Given the description of an element on the screen output the (x, y) to click on. 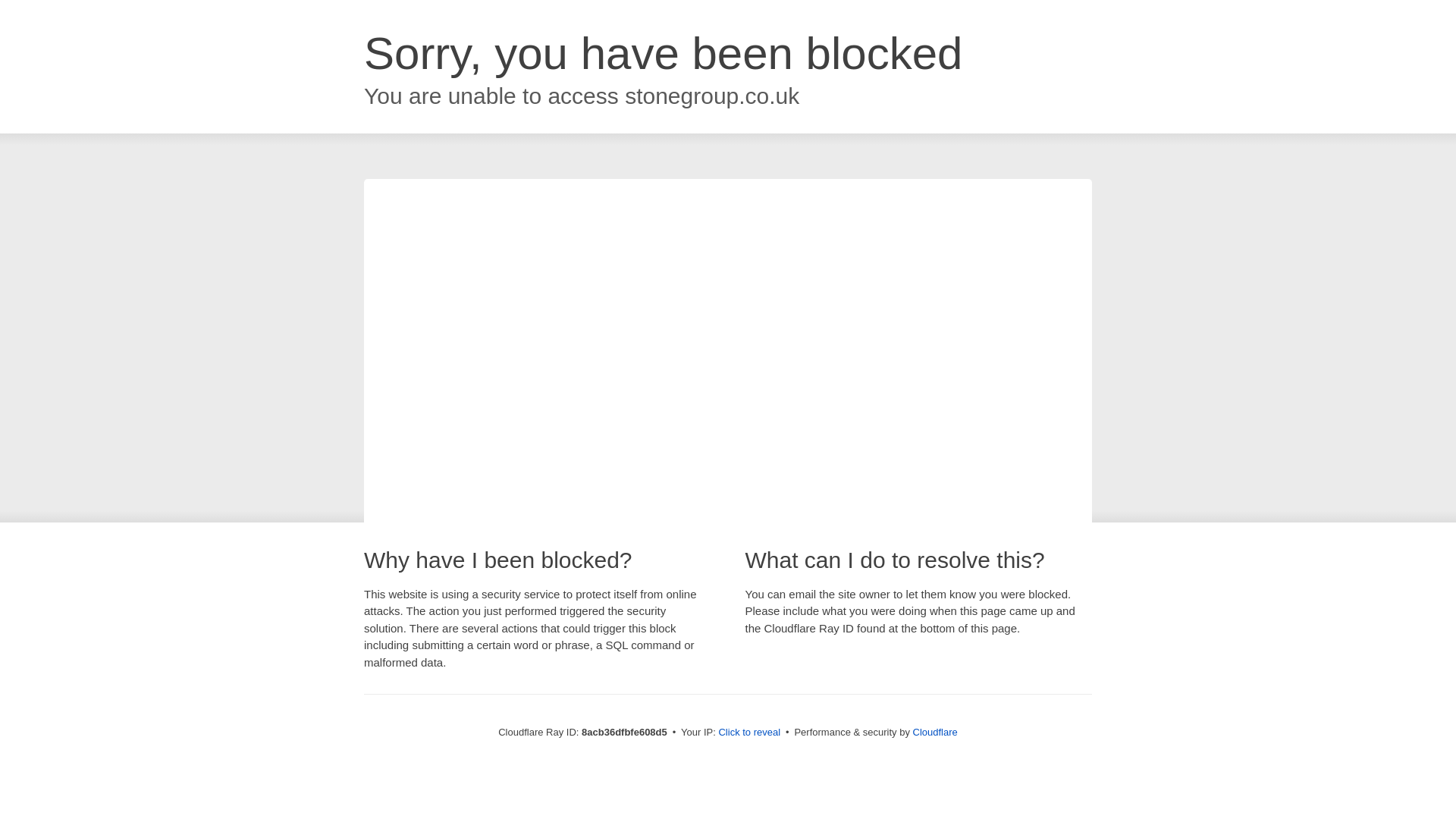
Click to reveal (750, 732)
Cloudflare (936, 731)
